Given the description of an element on the screen output the (x, y) to click on. 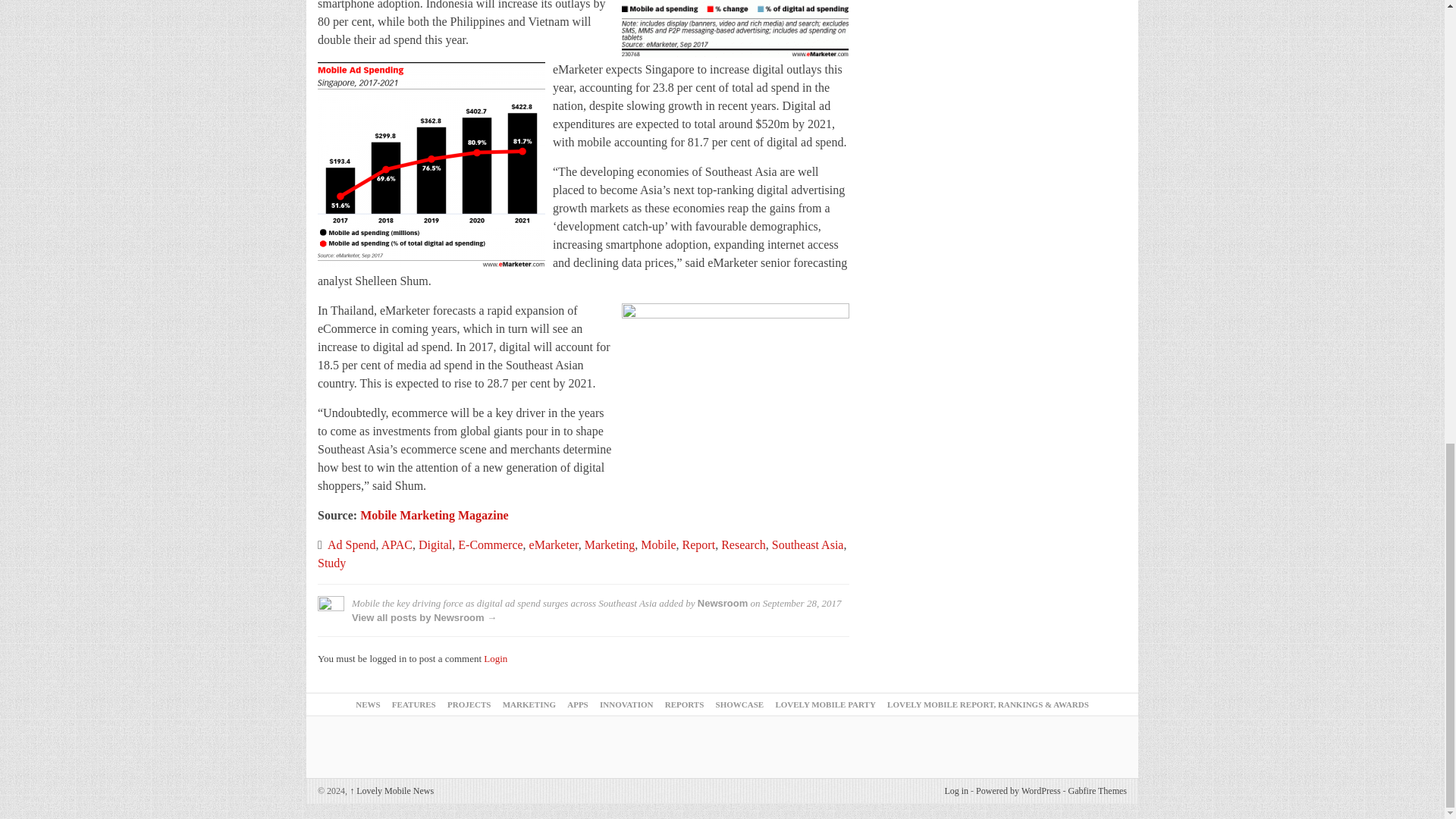
Mobile (657, 544)
Lovely Mobile News (391, 790)
Digital (435, 544)
E-Commerce (490, 544)
APAC (396, 544)
Mobile Marketing Magazine (433, 514)
eMarketer (553, 544)
Ad Spend (351, 544)
Marketing (609, 544)
